Given the description of an element on the screen output the (x, y) to click on. 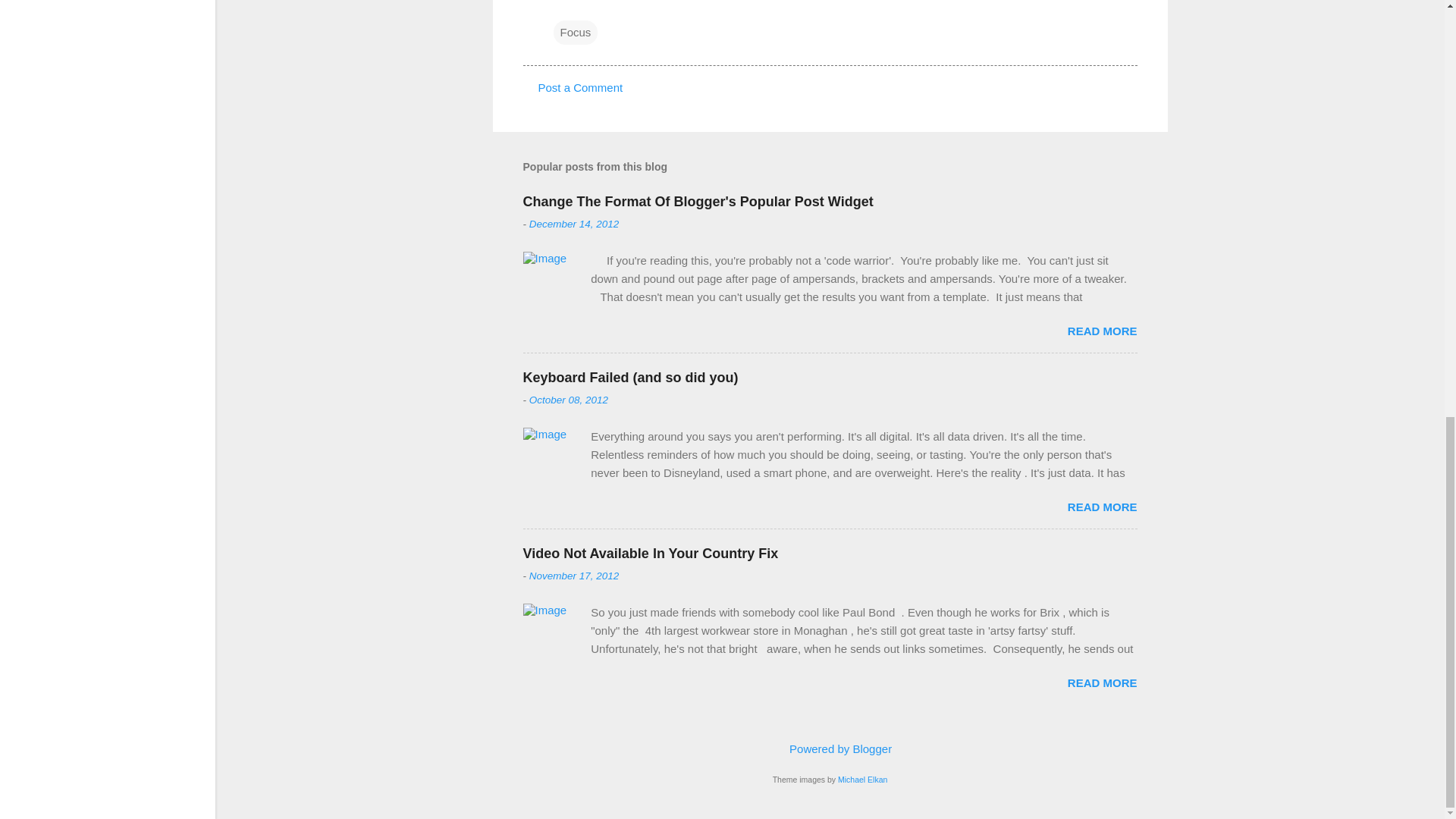
Video Not Available In Your Country Fix (650, 553)
Michael Elkan (862, 778)
October 08, 2012 (568, 399)
permanent link (574, 224)
READ MORE (1102, 682)
Change The Format Of Blogger's Popular Post Widget (697, 201)
READ MORE (1102, 506)
Powered by Blogger (829, 748)
December 14, 2012 (574, 224)
Focus (575, 31)
READ MORE (1102, 330)
November 17, 2012 (574, 575)
Post a Comment (580, 87)
